Given the description of an element on the screen output the (x, y) to click on. 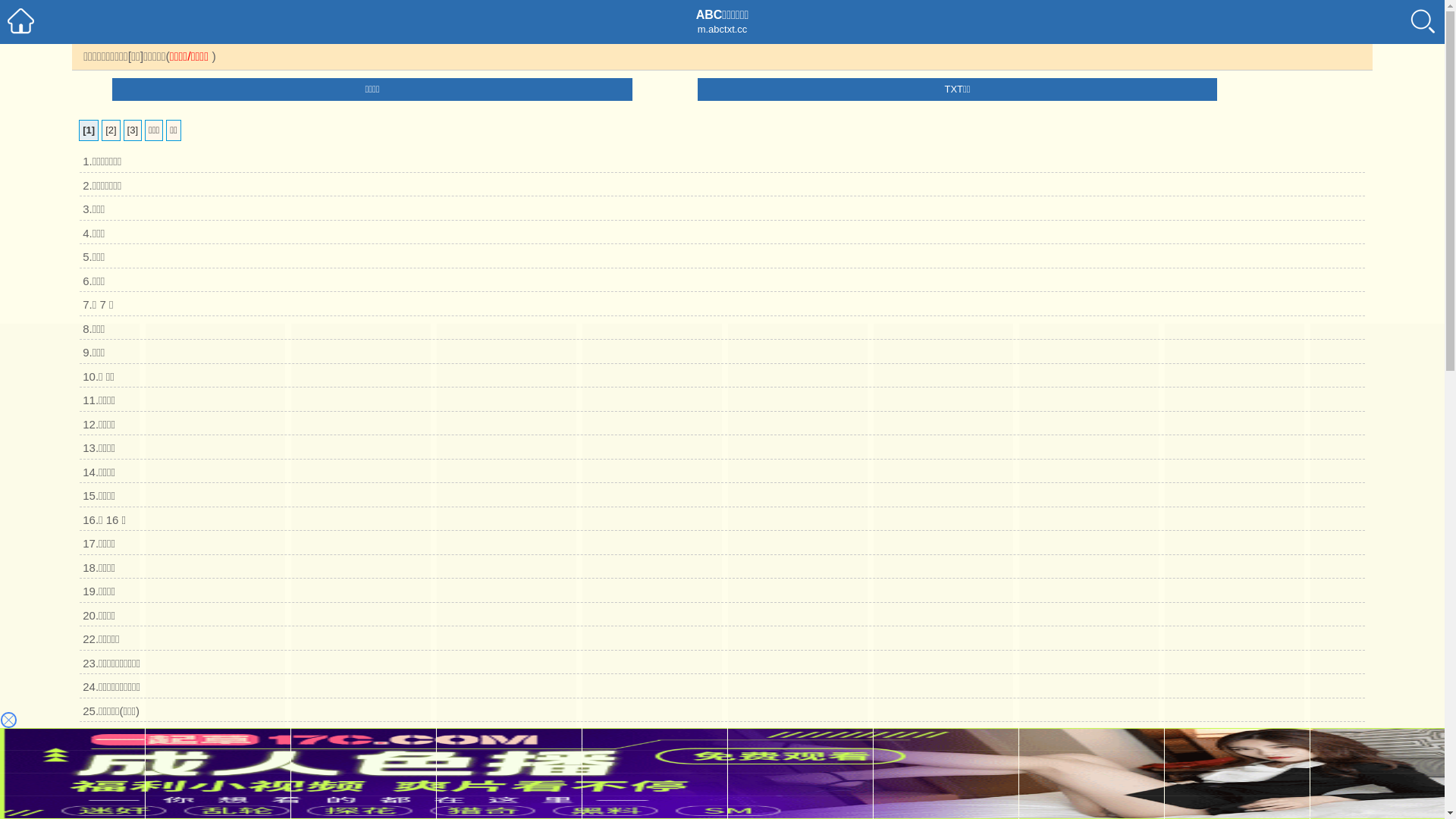
[2] Element type: text (110, 130)
[3] Element type: text (132, 130)
